Given the description of an element on the screen output the (x, y) to click on. 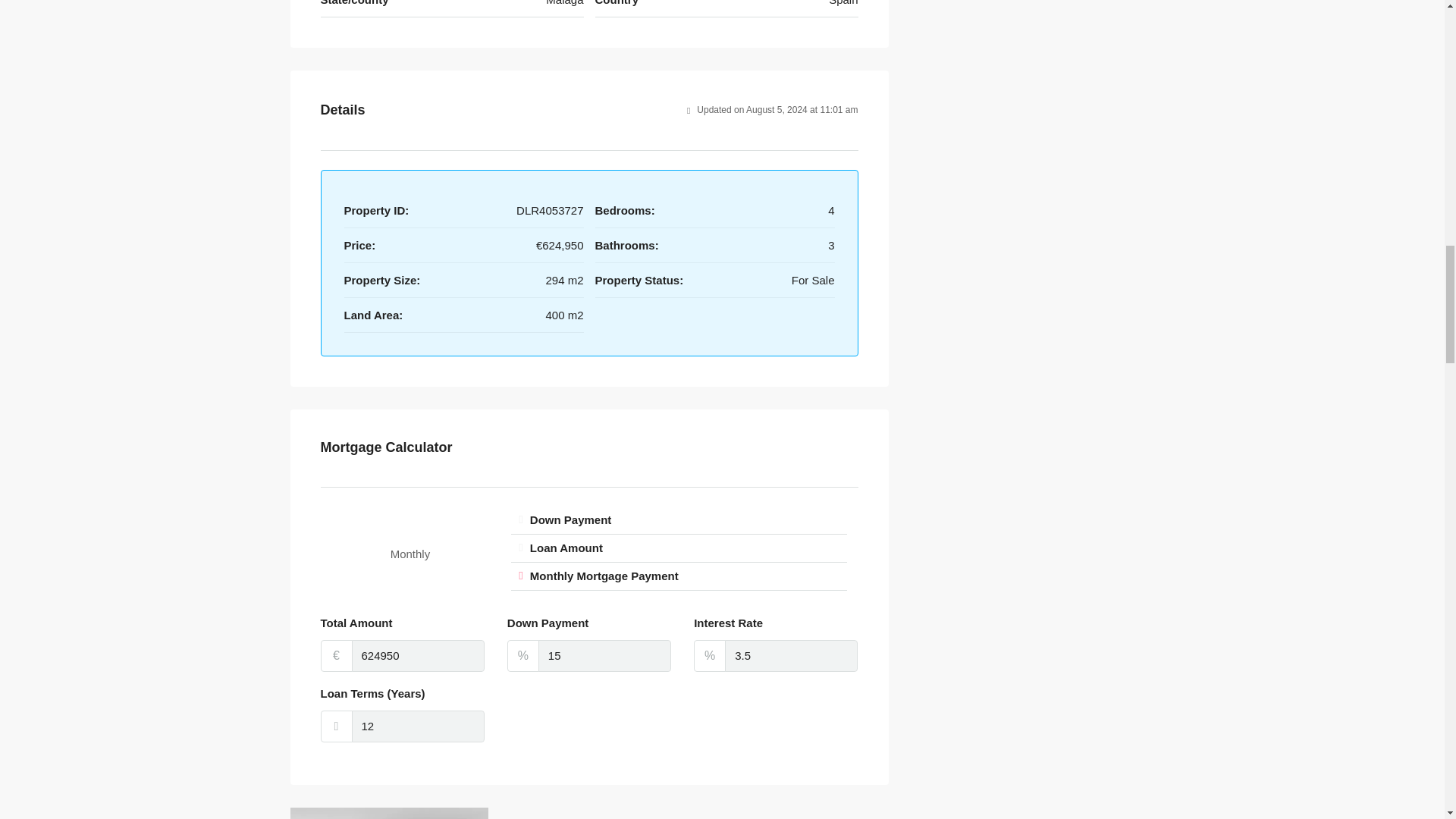
12 (418, 726)
15 (604, 655)
624950 (418, 655)
3.5 (791, 655)
